Given the description of an element on the screen output the (x, y) to click on. 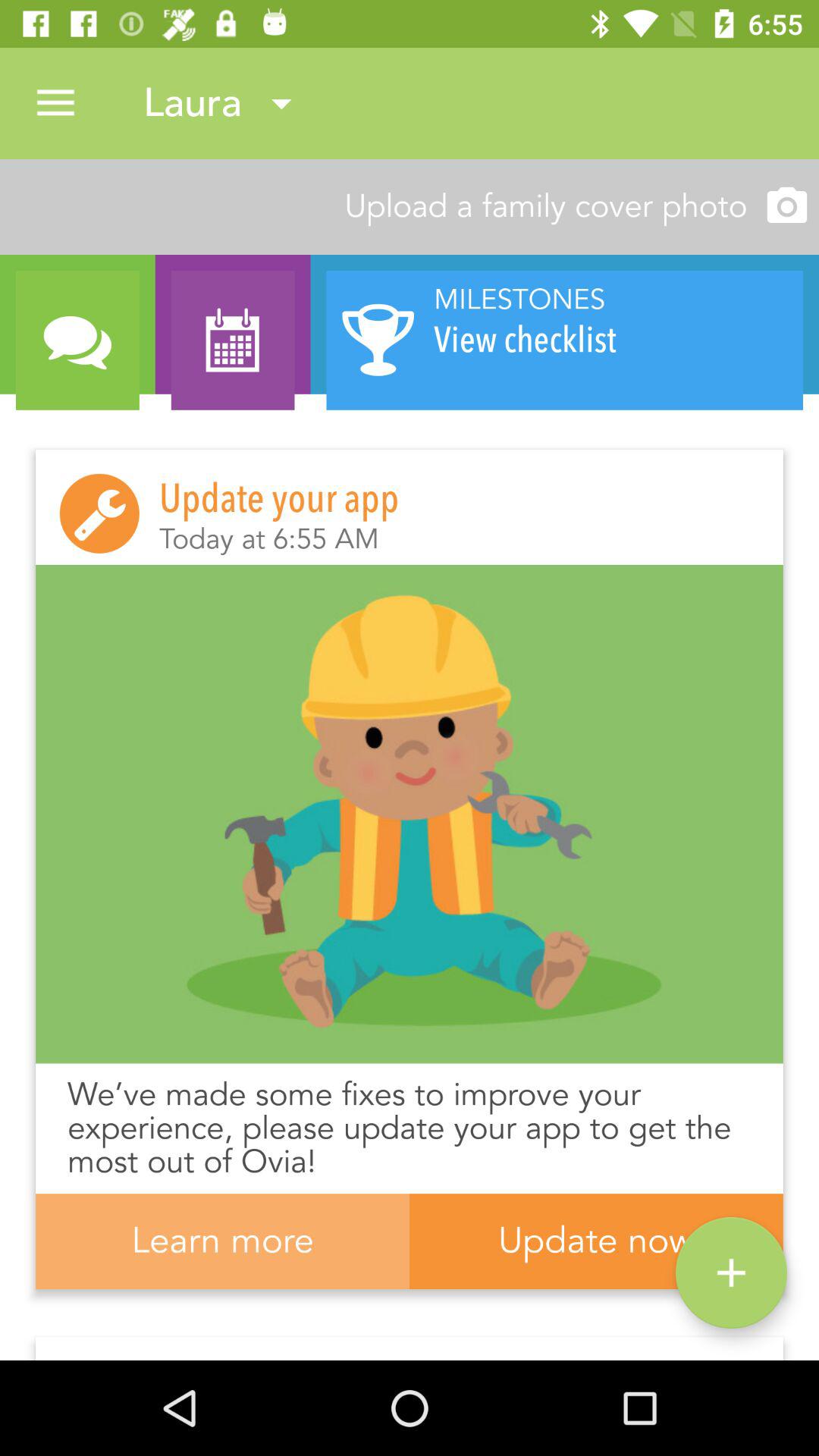
scroll to upload a family item (409, 206)
